Given the description of an element on the screen output the (x, y) to click on. 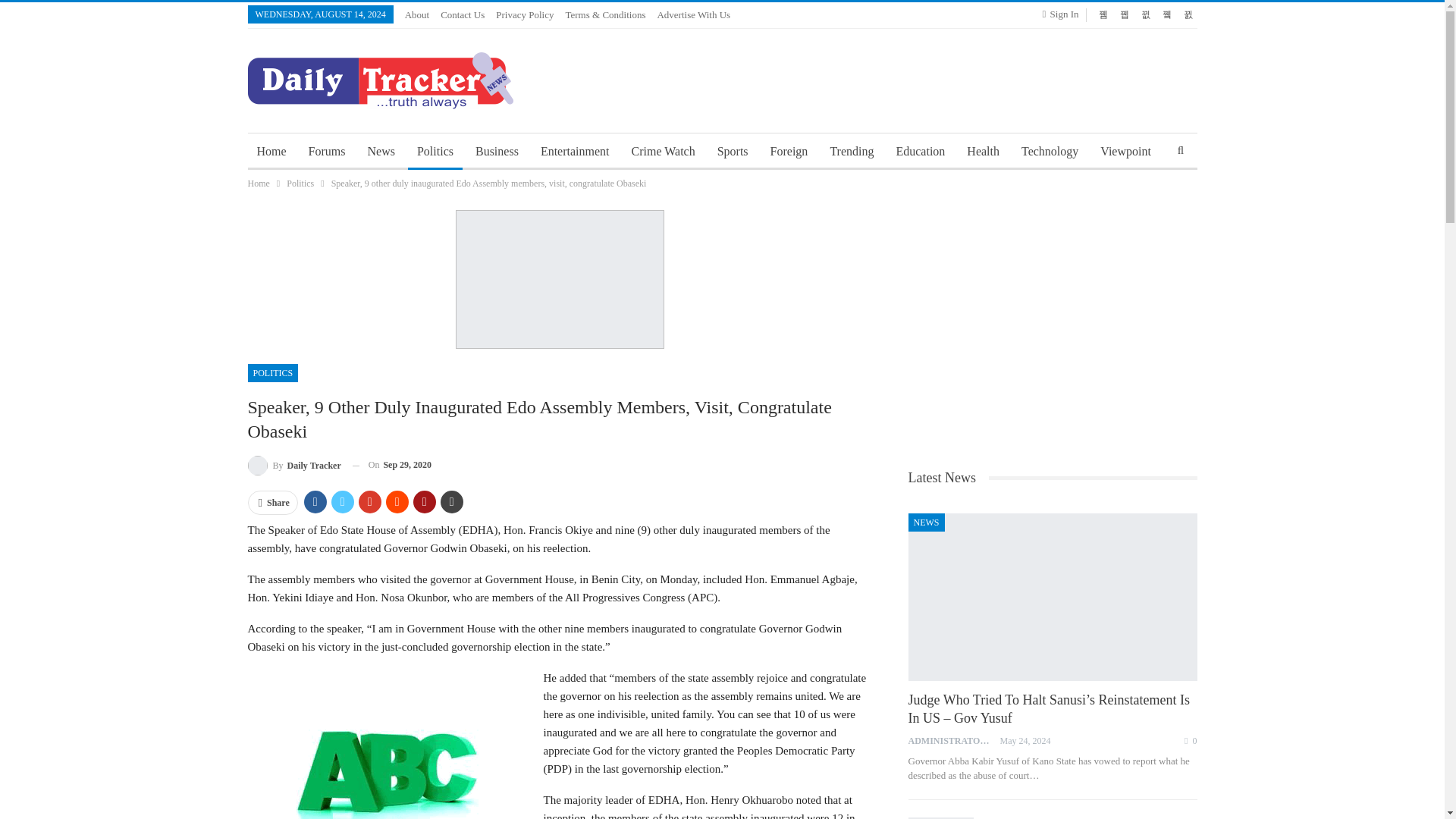
By Daily Tracker (293, 465)
Education (919, 151)
Sports (732, 151)
About (416, 14)
Home (258, 183)
Browse Author Articles (954, 740)
Politics (435, 151)
Privacy Policy (524, 14)
News (381, 151)
Business (496, 151)
